Given the description of an element on the screen output the (x, y) to click on. 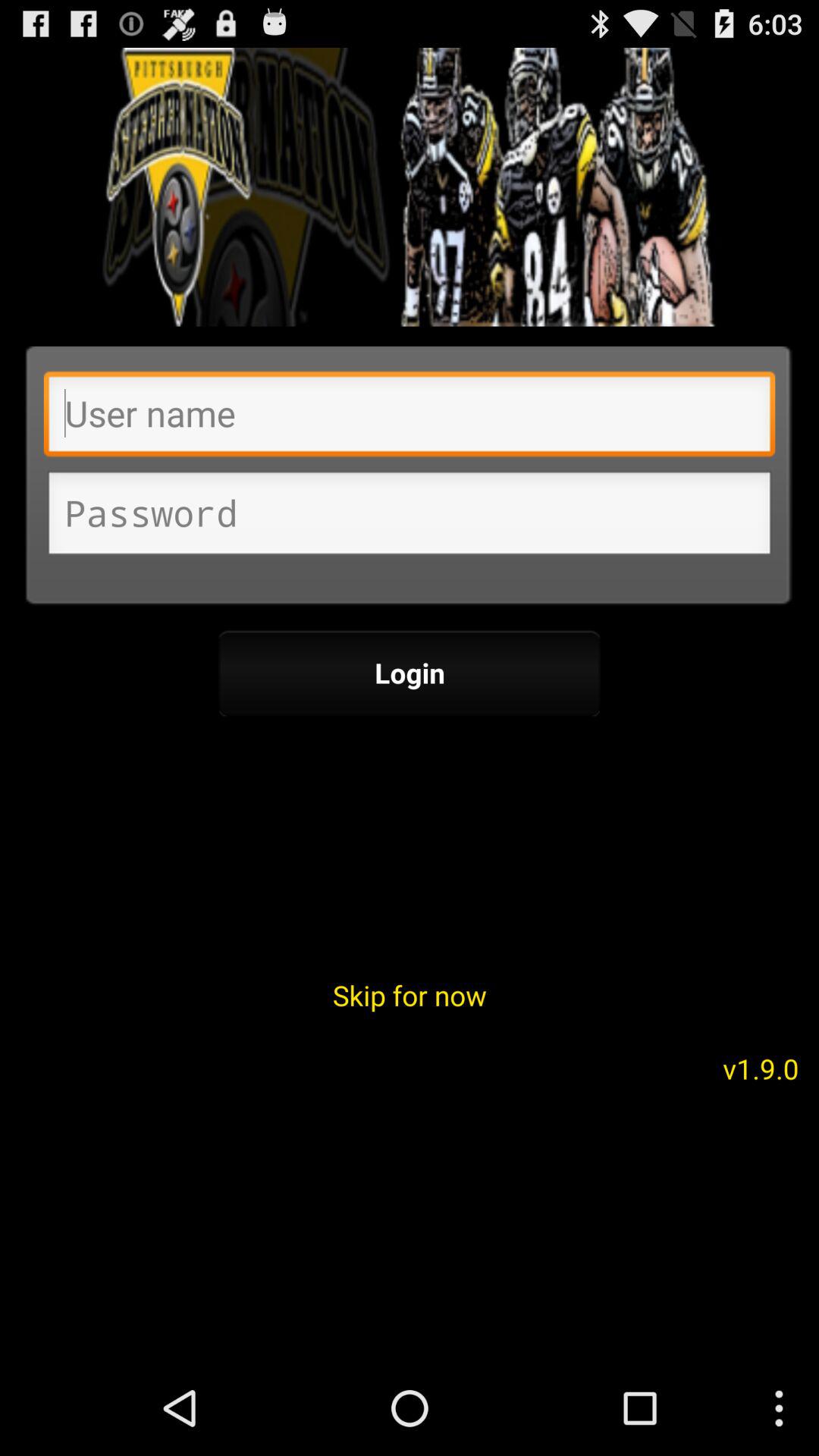
user id tab (409, 417)
